Given the description of an element on the screen output the (x, y) to click on. 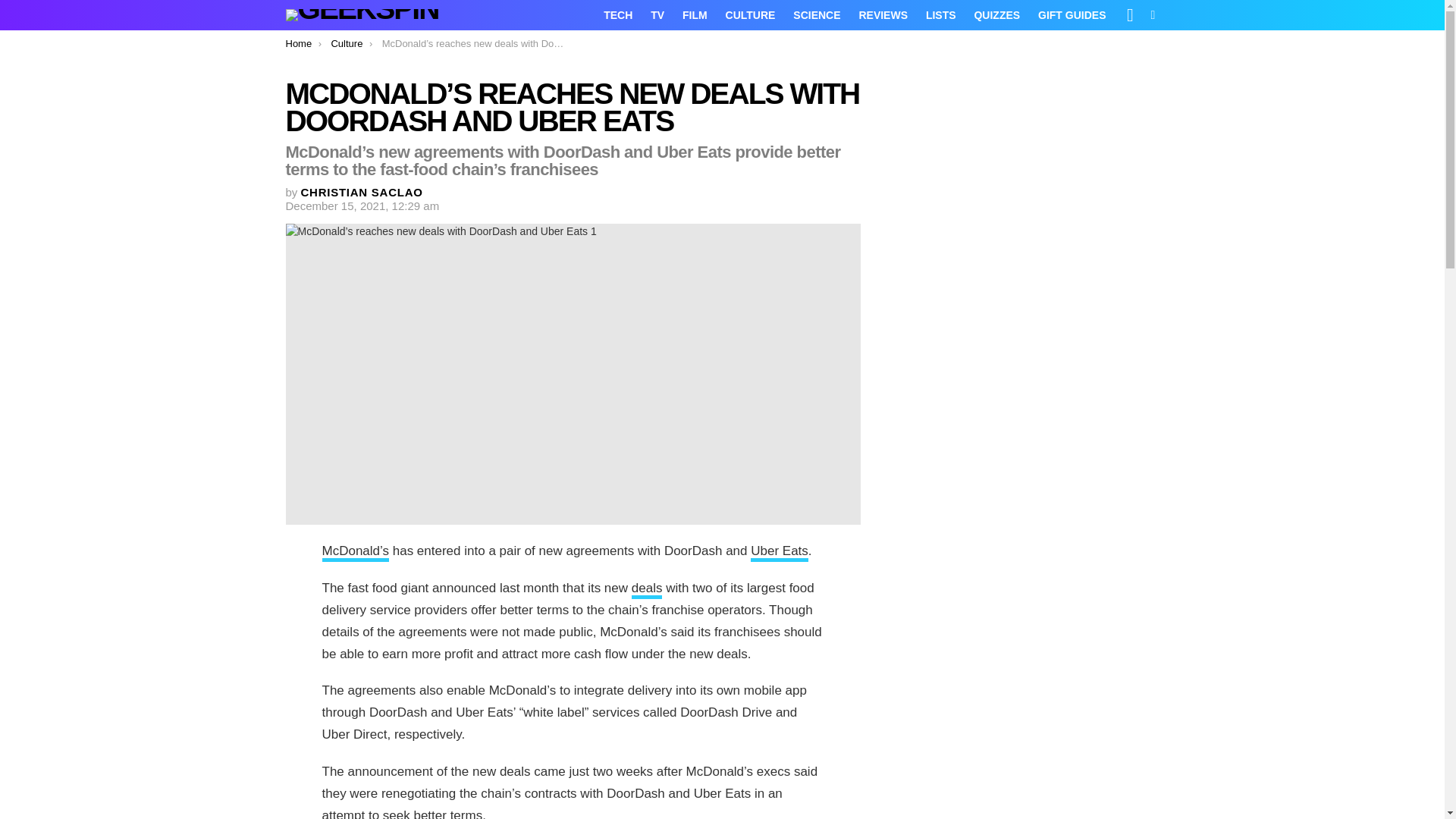
SCIENCE (816, 15)
TV (657, 15)
Posts by Christian Saclao (362, 192)
TECH (617, 15)
QUIZZES (996, 15)
Culture (346, 43)
LISTS (940, 15)
deals (646, 589)
CULTURE (750, 15)
Uber Eats (779, 552)
FILM (694, 15)
REVIEWS (882, 15)
CHRISTIAN SACLAO (362, 192)
GIFT GUIDES (1071, 15)
Home (298, 43)
